Given the description of an element on the screen output the (x, y) to click on. 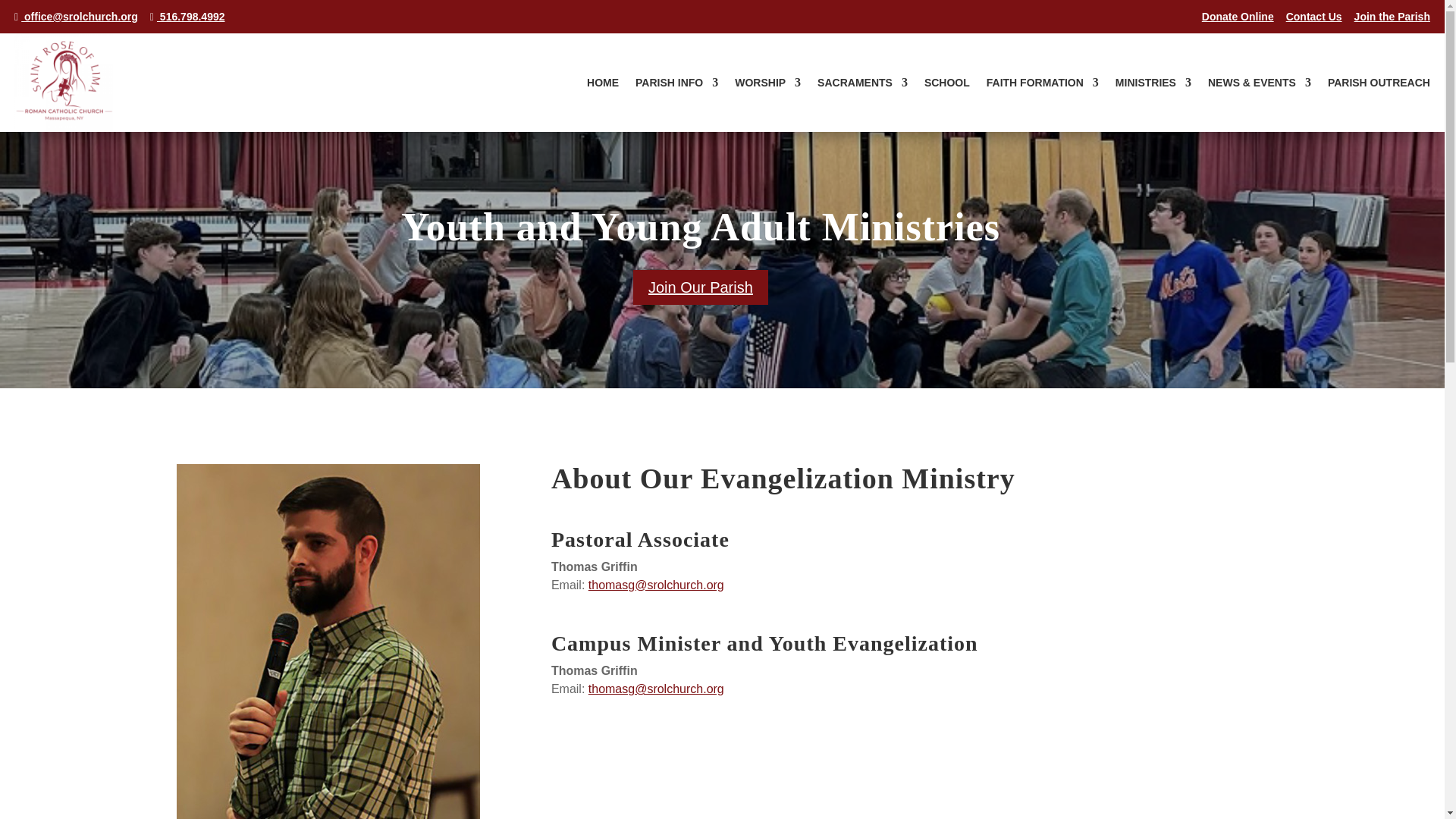
WORSHIP (767, 85)
Contact Us (1313, 16)
PARISH INFO (675, 85)
Donate Online (1238, 16)
HOME (602, 85)
Join the Parish (1391, 16)
FAITH FORMATION (1043, 85)
SACRAMENTS (861, 85)
MINISTRIES (1153, 85)
516.798.4992 (187, 16)
SCHOOL (946, 85)
